Given the description of an element on the screen output the (x, y) to click on. 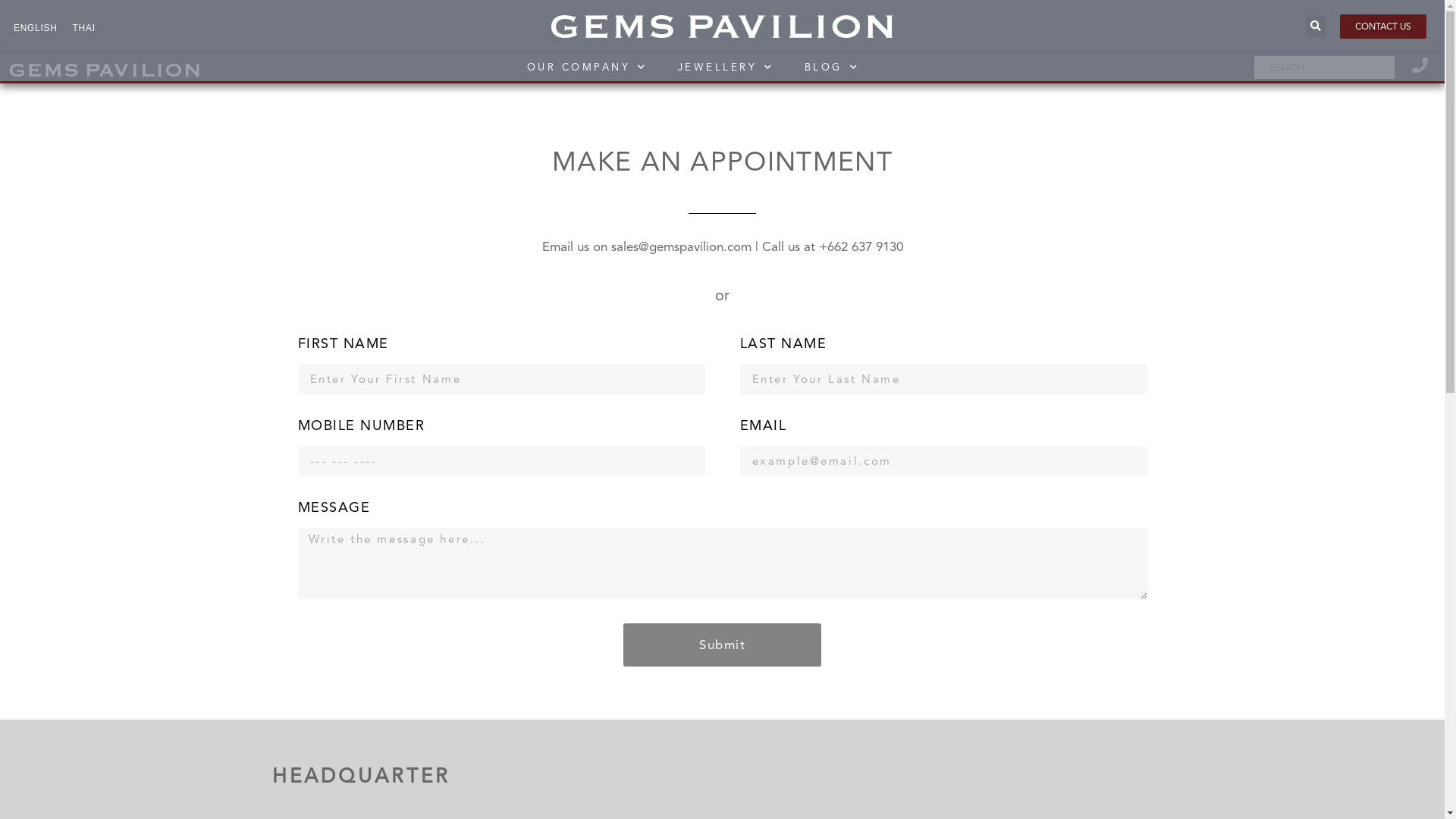
ENGLISH Element type: text (35, 27)
BLOG Element type: text (832, 67)
CONTACT US Element type: text (1382, 26)
JEWELLERY Element type: text (725, 67)
GP_Logo-01 Element type: hover (721, 26)
THAI Element type: text (84, 27)
OUR COMPANY Element type: text (586, 67)
Search Element type: hover (1327, 67)
GP_Logo-01 Element type: hover (103, 69)
Submit Element type: text (722, 644)
